Given the description of an element on the screen output the (x, y) to click on. 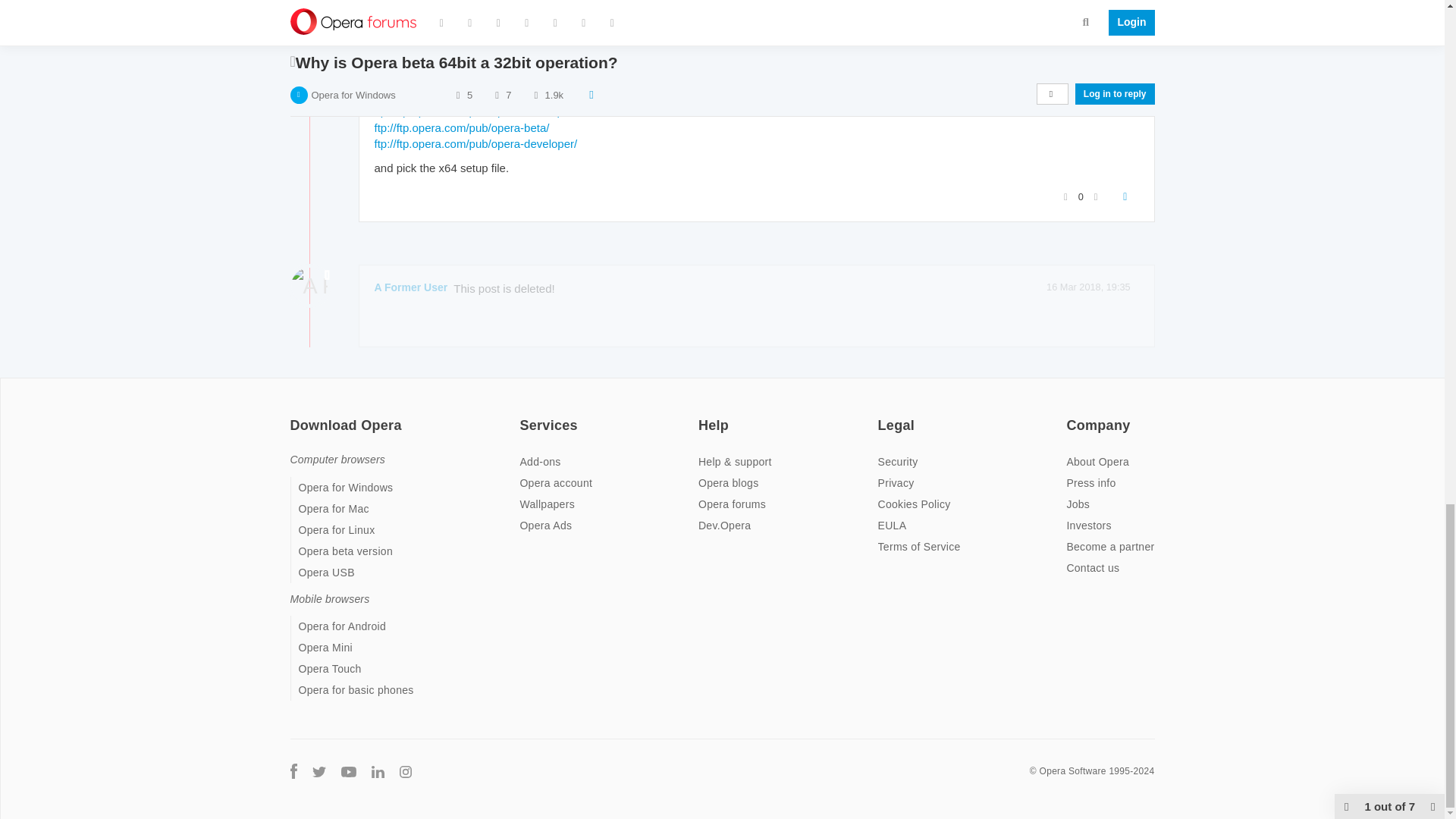
on (702, 415)
on (523, 415)
on (1070, 415)
on (293, 415)
on (881, 415)
